Given the description of an element on the screen output the (x, y) to click on. 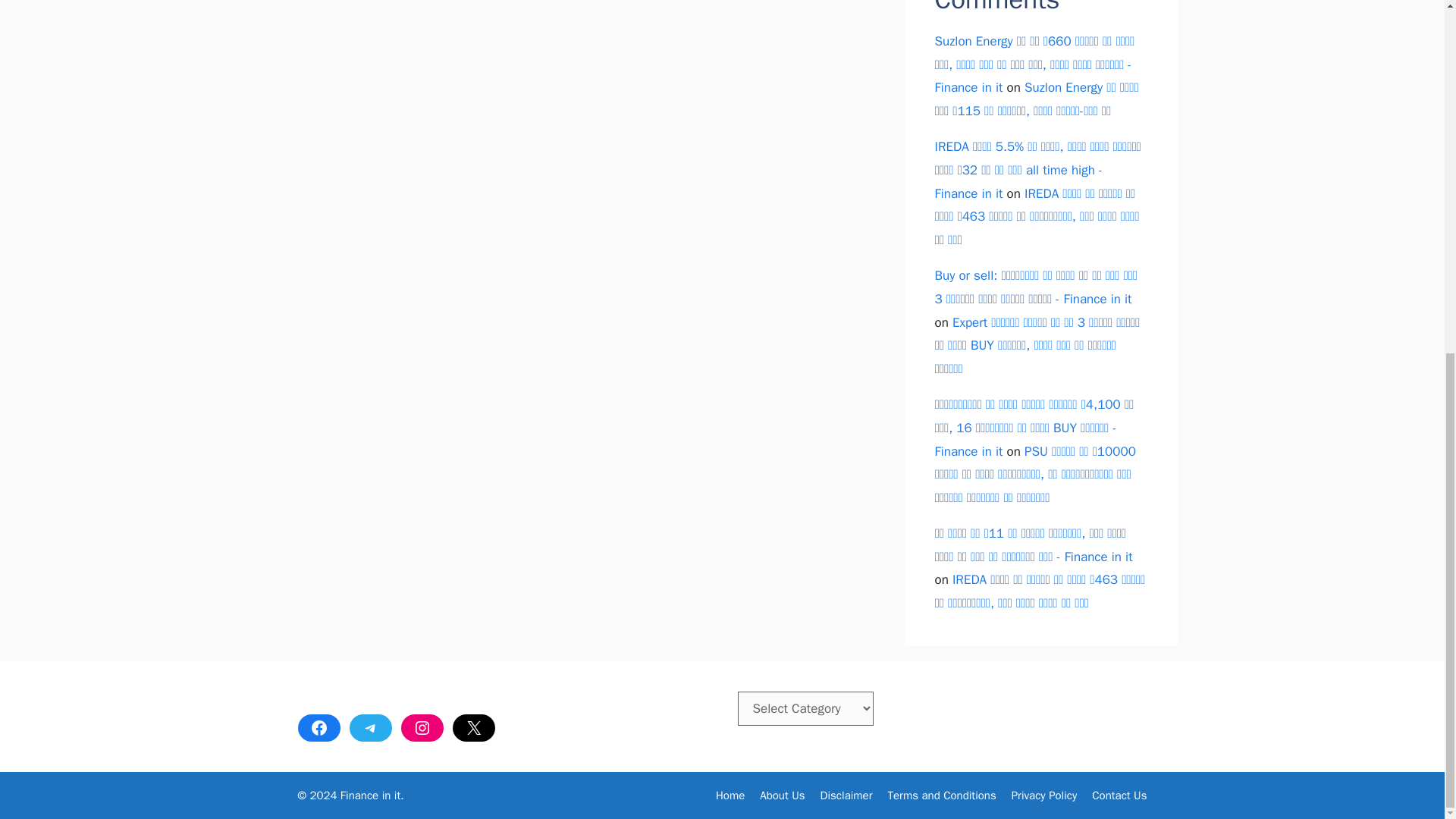
Instagram (421, 728)
Facebook (318, 728)
X (473, 728)
Telegram (370, 728)
